Given the description of an element on the screen output the (x, y) to click on. 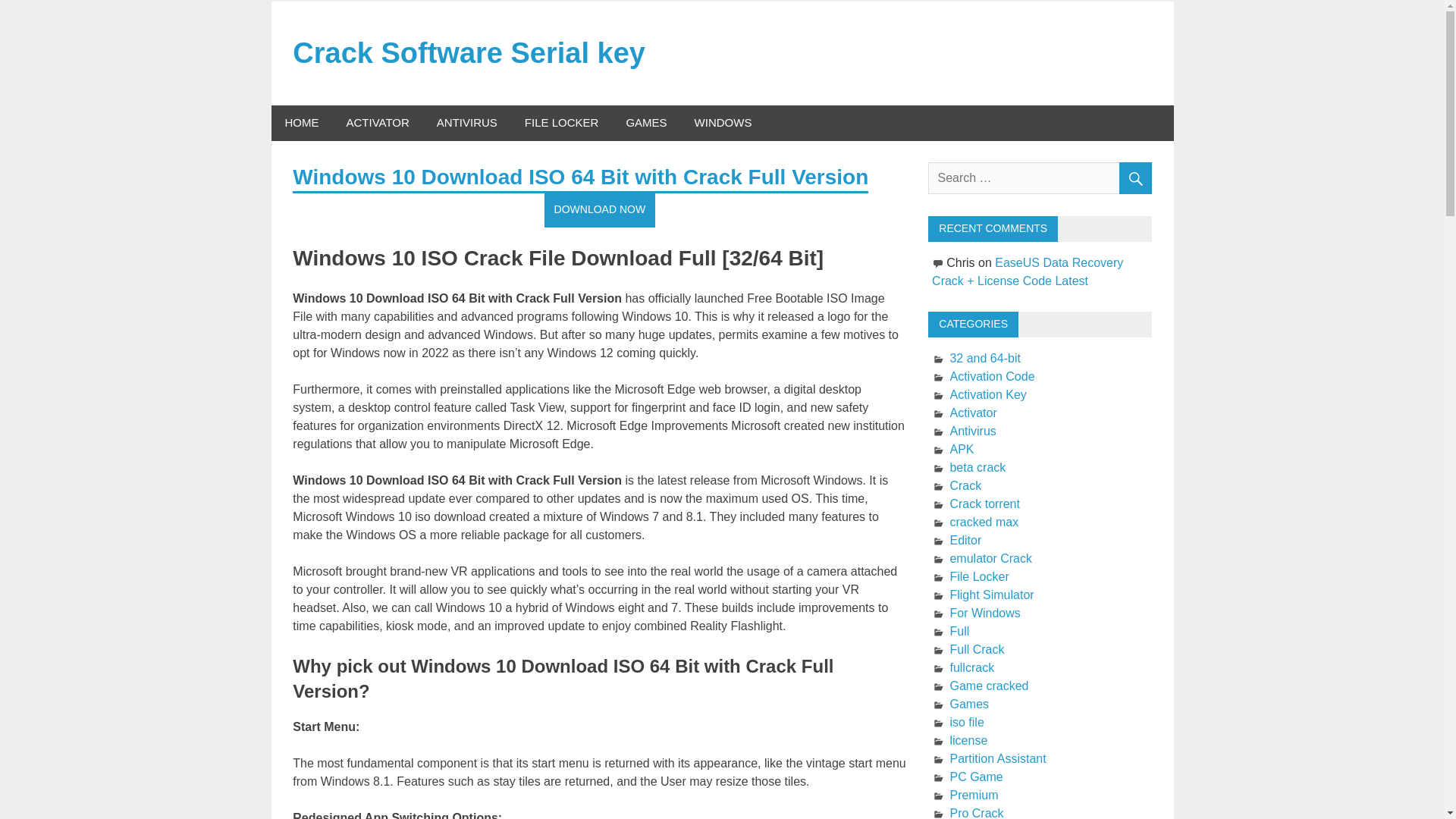
HOME (301, 122)
DOWNLOAD NOW (600, 208)
Crack torrent (984, 503)
Activation Code (991, 376)
32 and 64-bit (984, 358)
APK (961, 449)
GAMES (645, 122)
Activation Key (987, 394)
Crack Software Serial key (468, 52)
ACTIVATOR (376, 122)
Crack (965, 485)
WINDOWS (723, 122)
cracked max (983, 521)
Antivirus (972, 431)
beta crack (977, 467)
